Given the description of an element on the screen output the (x, y) to click on. 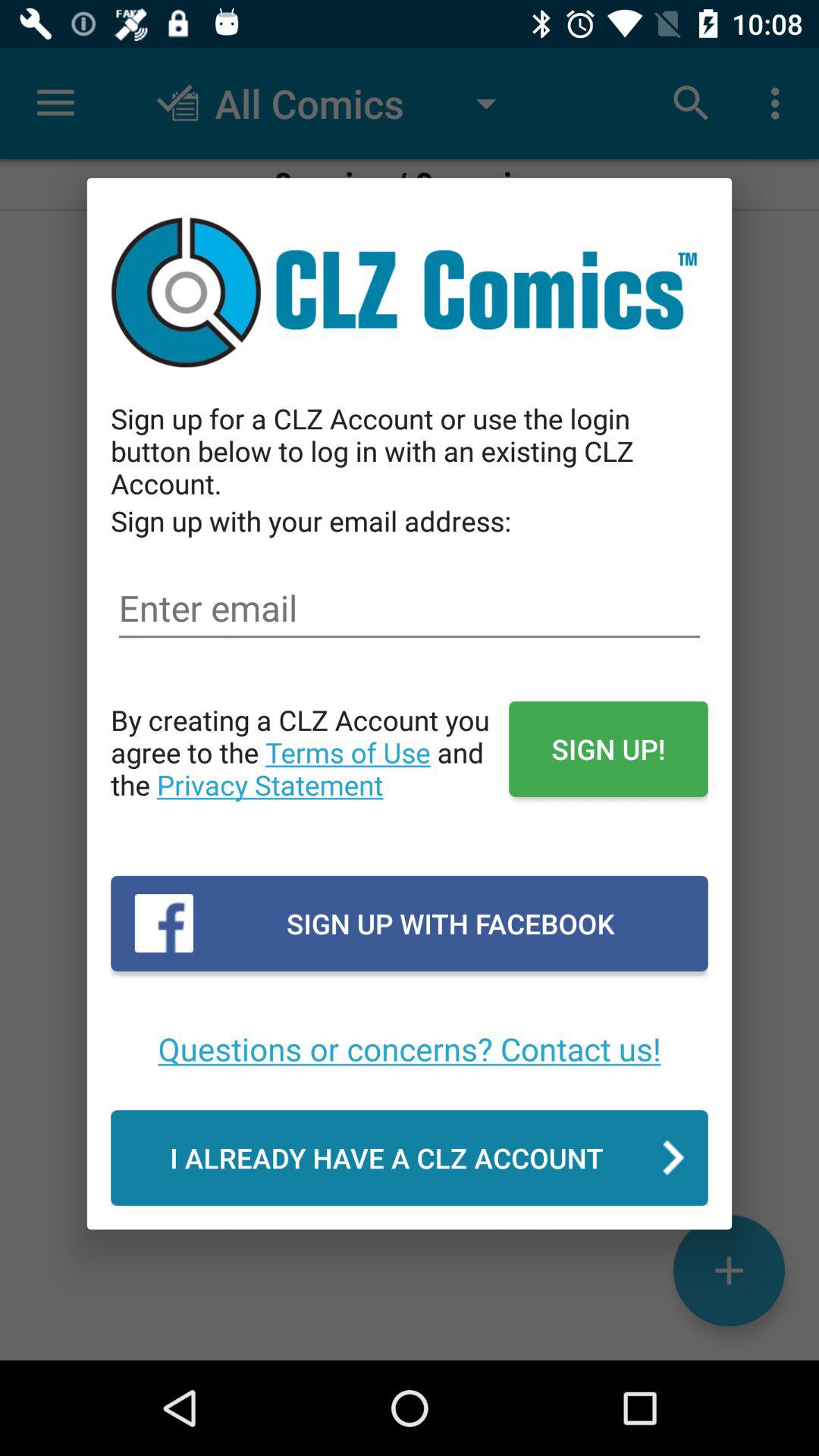
select icon below questions or concerns (409, 1157)
